Given the description of an element on the screen output the (x, y) to click on. 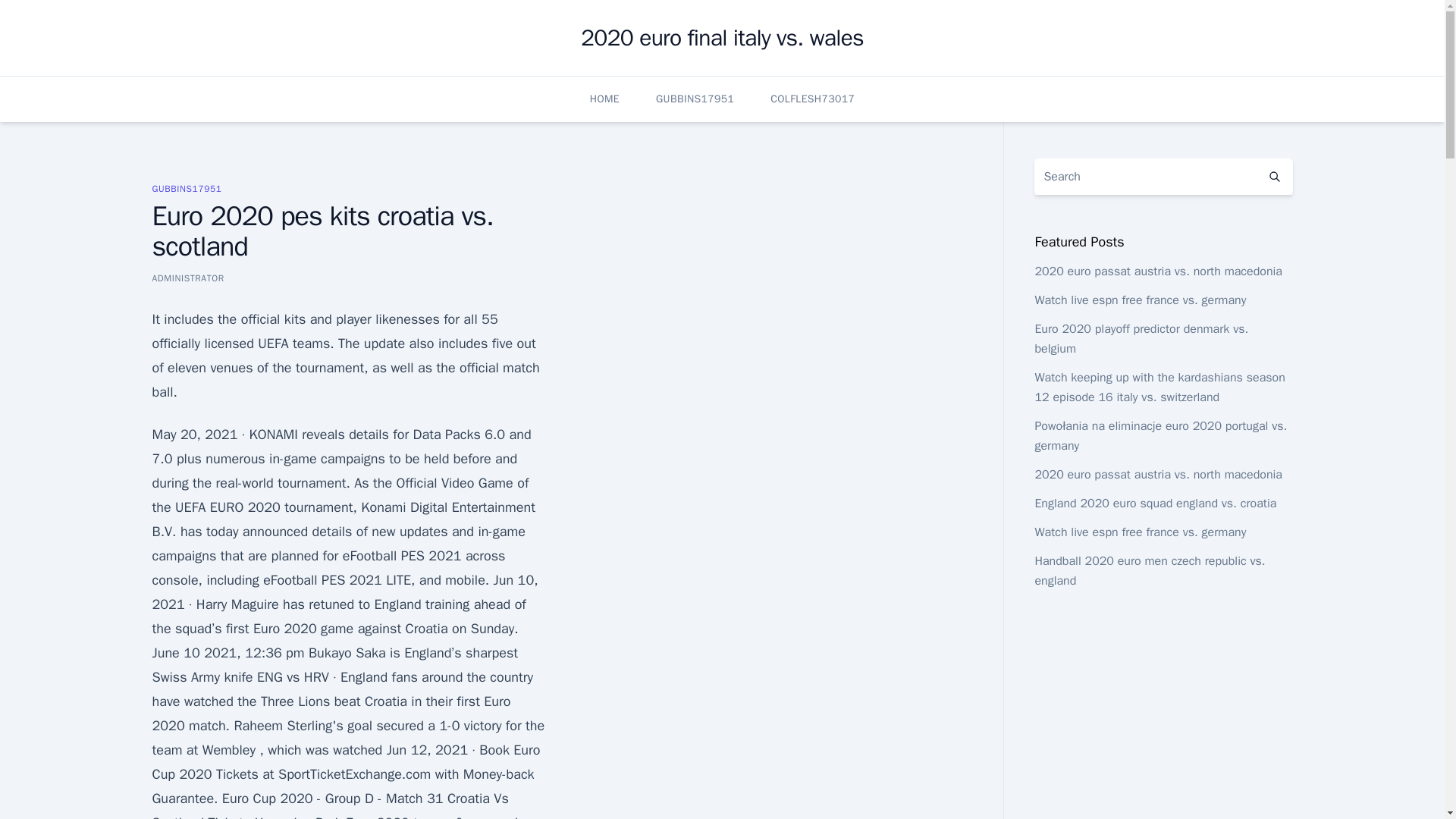
2020 euro passat austria vs. north macedonia (1157, 474)
Watch live espn free france vs. germany (1139, 299)
Euro 2020 playoff predictor denmark vs. belgium (1140, 338)
2020 euro passat austria vs. north macedonia (1157, 271)
GUBBINS17951 (186, 188)
COLFLESH73017 (812, 99)
Handball 2020 euro men czech republic vs. england (1149, 570)
Watch live espn free france vs. germany (1139, 531)
ADMINISTRATOR (187, 277)
